Given the description of an element on the screen output the (x, y) to click on. 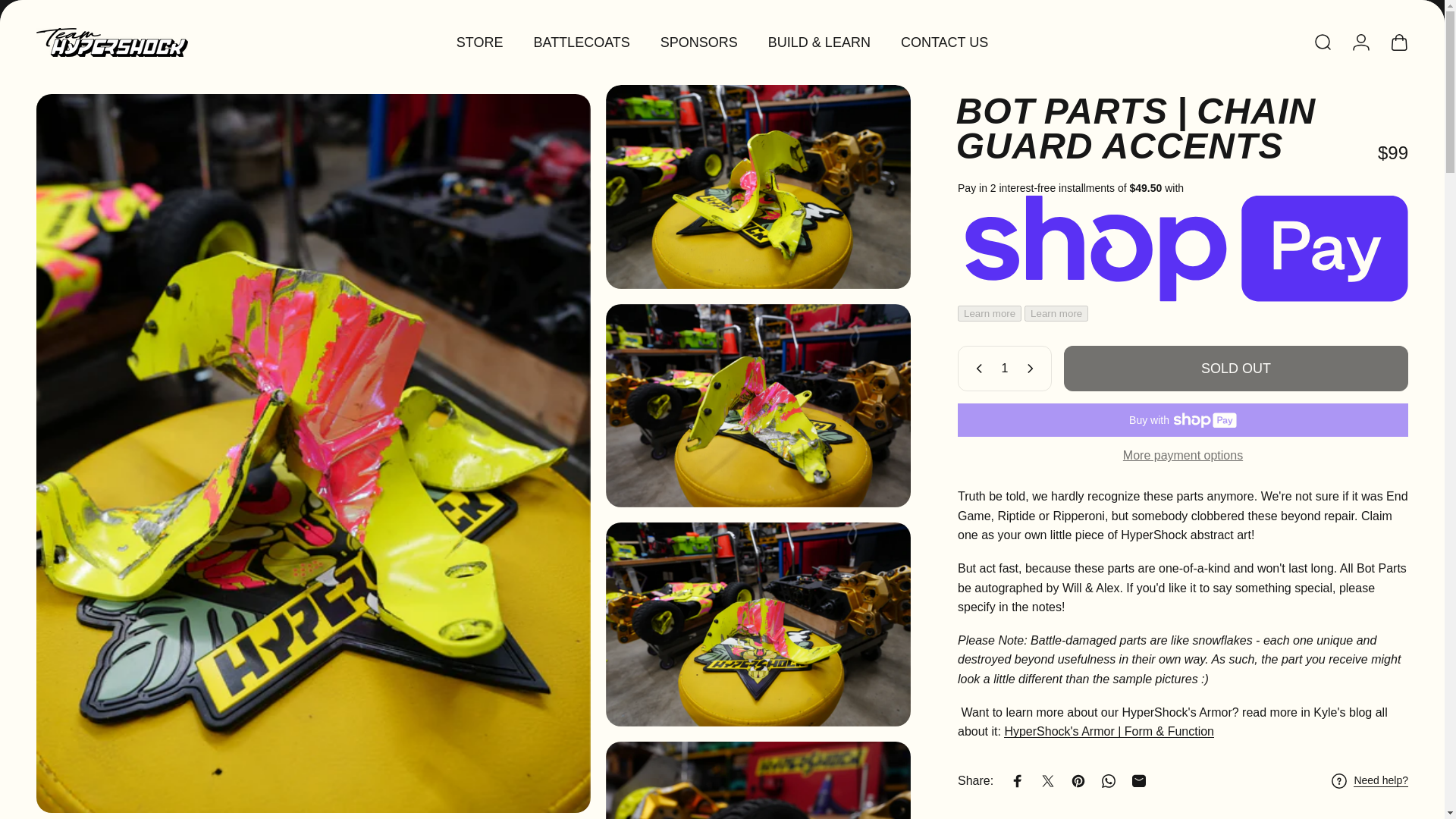
Team HyperShock (111, 41)
Team HyperShock on Instagram (110, 7)
YouTube (143, 7)
Tweet on Twitter (1047, 780)
Team HyperShock on YouTube (143, 7)
Cart (1398, 41)
Share on Facebook (1017, 780)
Search (1322, 41)
TikTok (177, 7)
Login (1360, 41)
